Given the description of an element on the screen output the (x, y) to click on. 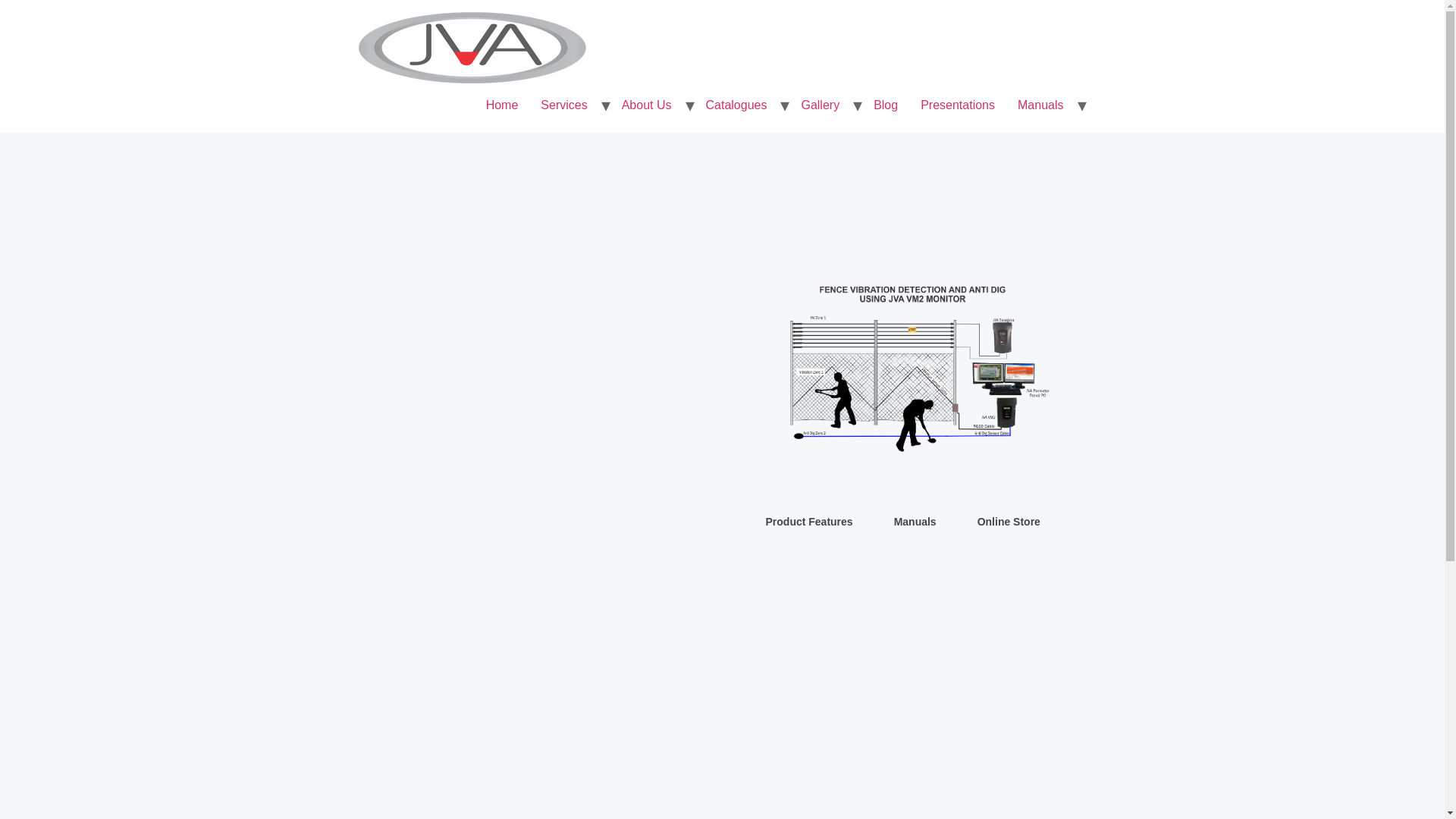
Services (563, 105)
Home (501, 105)
Catalogues (736, 105)
About Us (646, 105)
